Given the description of an element on the screen output the (x, y) to click on. 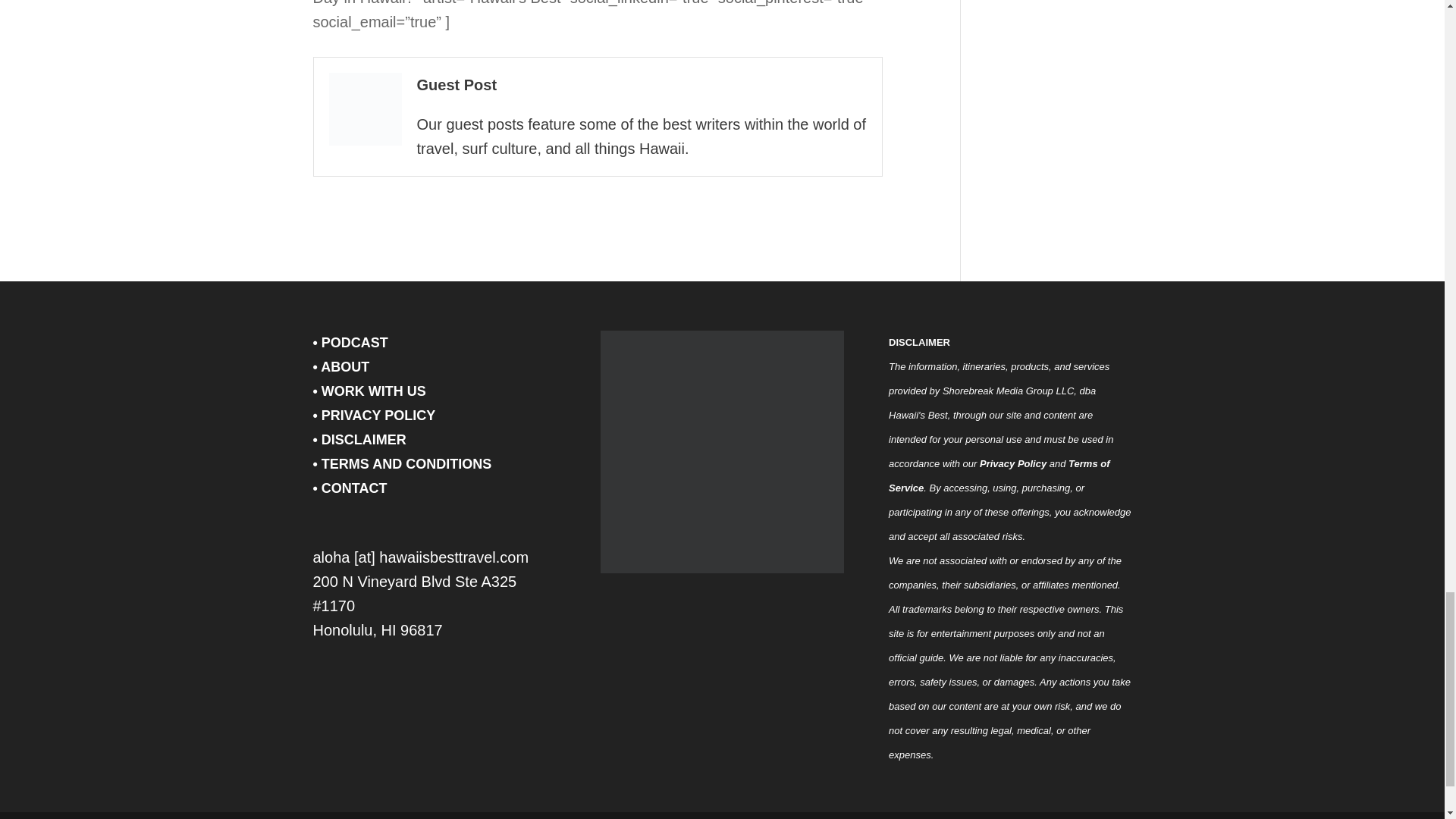
May Day is Lei Day in Hawaii 3 (365, 108)
